Given the description of an element on the screen output the (x, y) to click on. 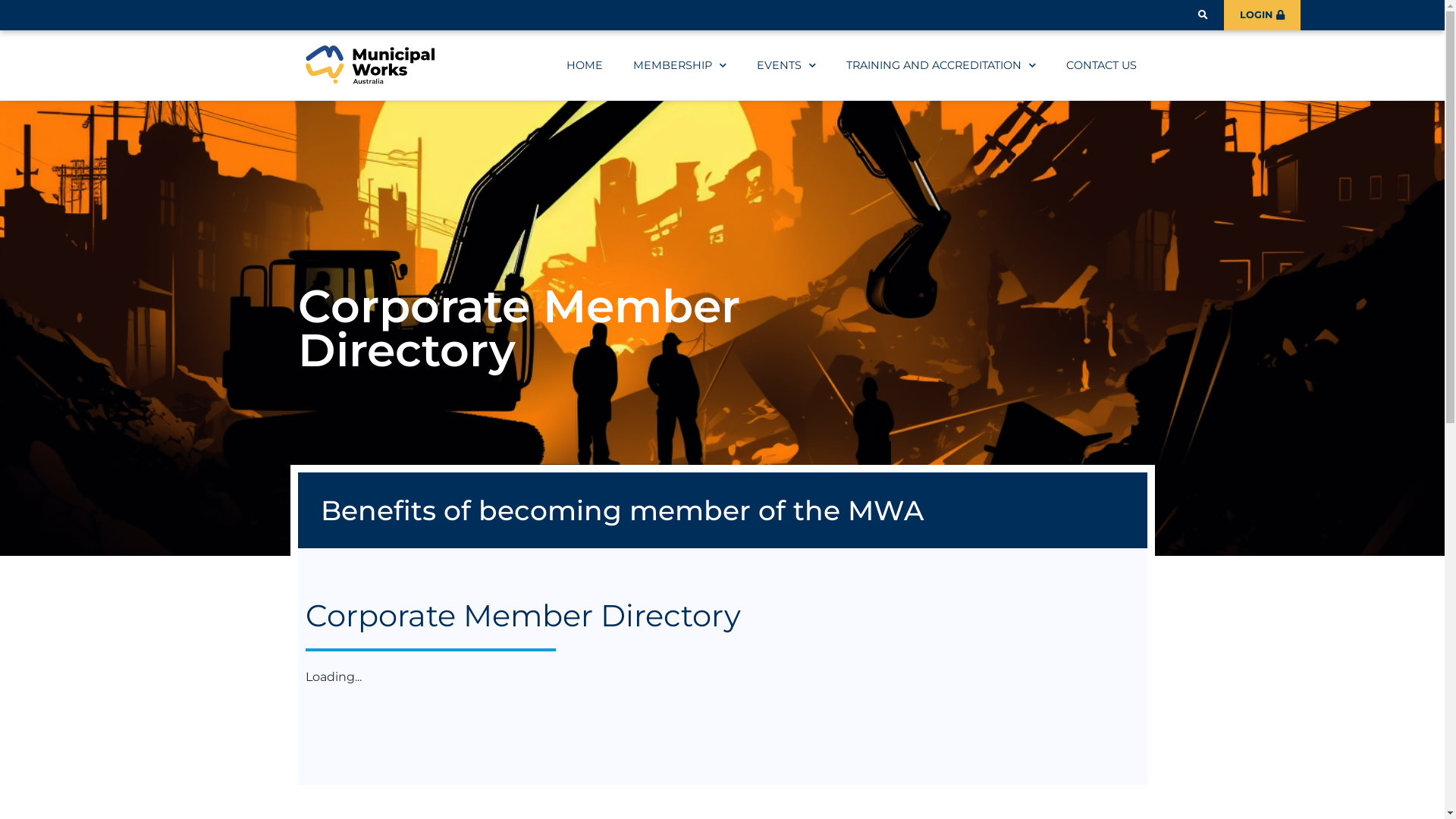
TRAINING AND ACCREDITATION Element type: text (941, 65)
MEMBERSHIP Element type: text (679, 65)
HOME Element type: text (584, 65)
LOGIN Element type: text (1261, 15)
CONTACT US Element type: text (1101, 65)
EVENTS Element type: text (786, 65)
